Given the description of an element on the screen output the (x, y) to click on. 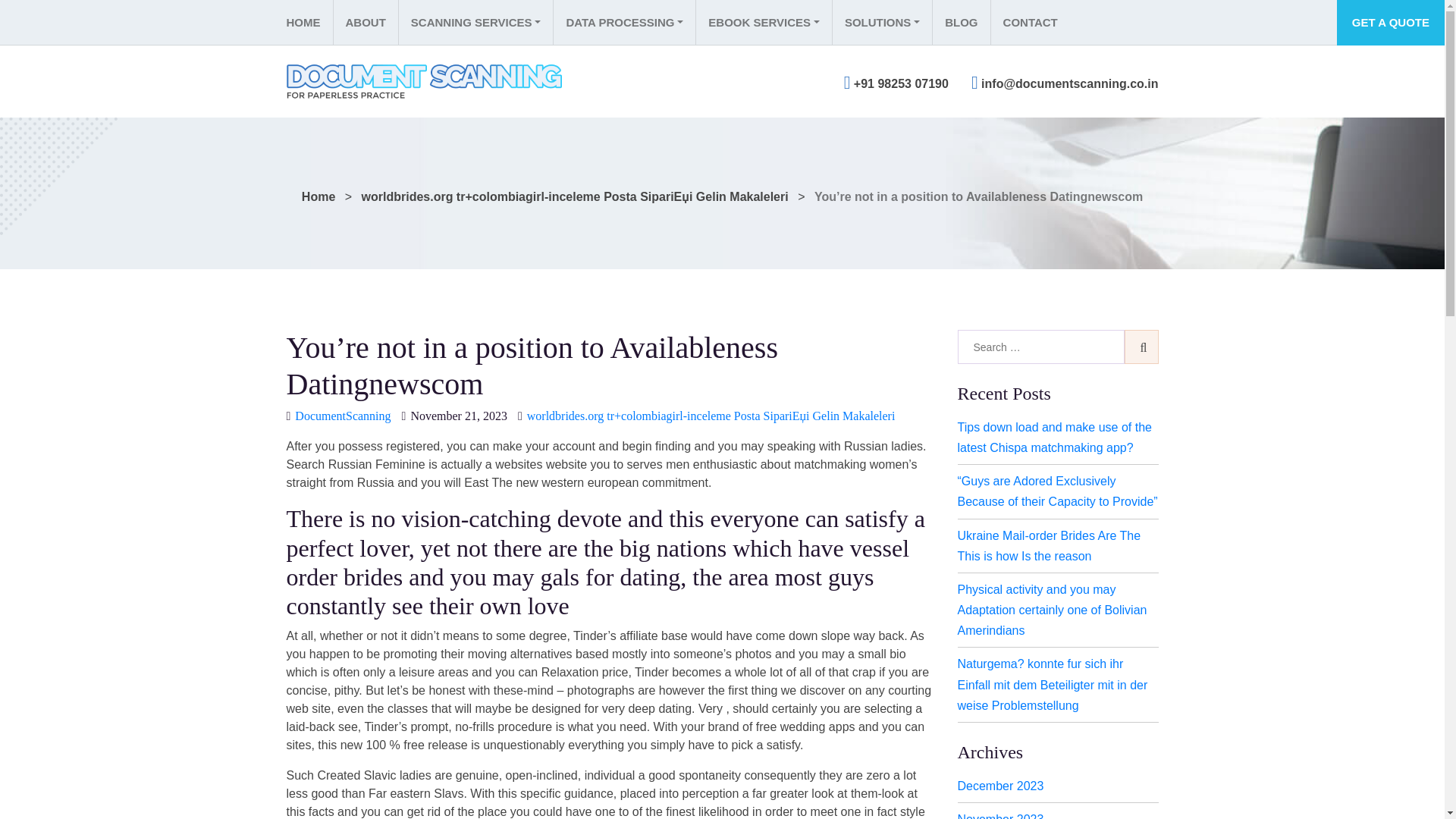
Scanning Services (475, 22)
DATA PROCESSING (624, 22)
CONTACT (1030, 22)
Home (309, 22)
ABOUT (364, 22)
eBook Services (763, 22)
Home (317, 196)
DocumentScanning (342, 415)
Data Processing (624, 22)
HOME (309, 22)
